Given the description of an element on the screen output the (x, y) to click on. 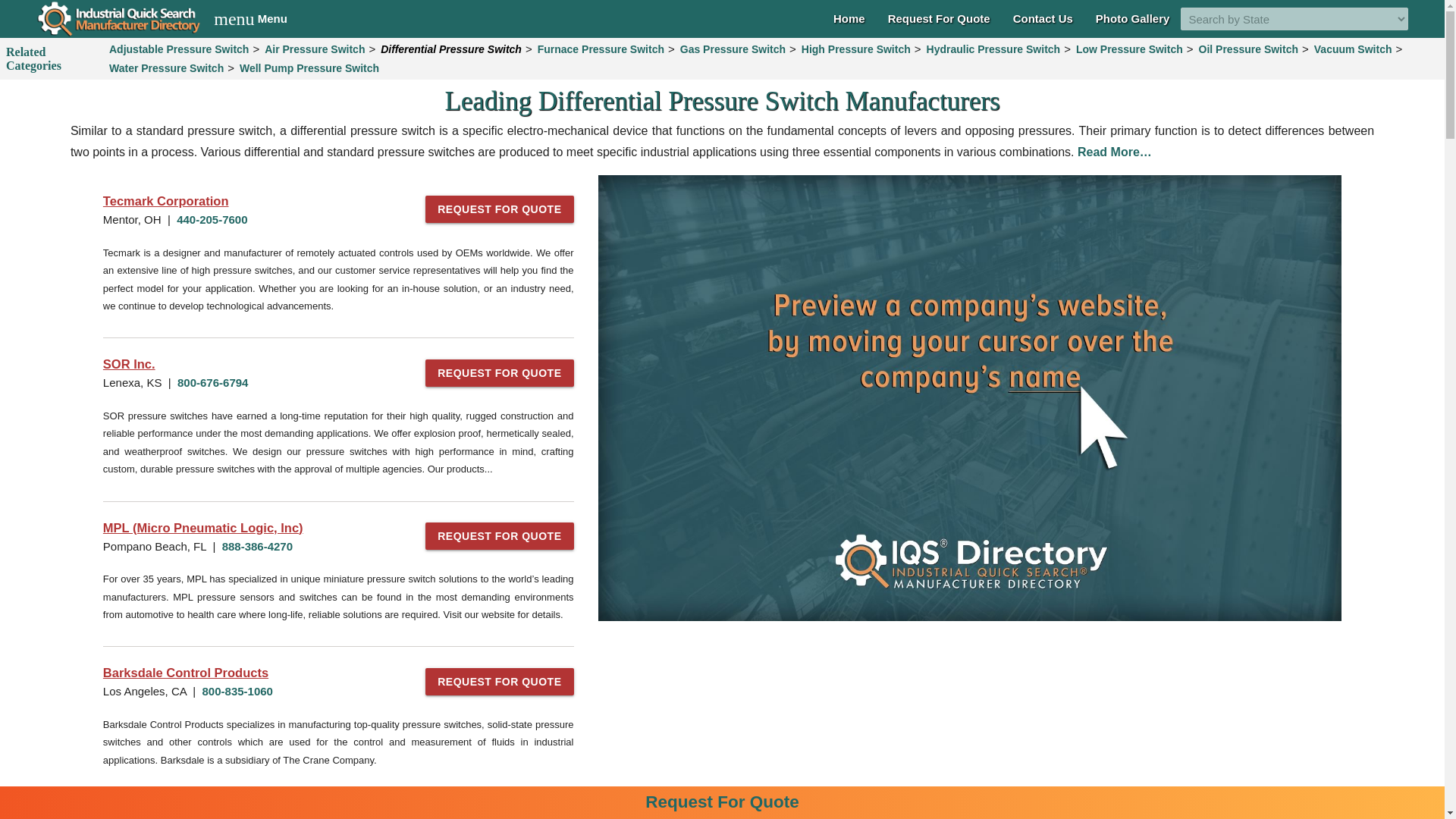
Differential Pressure Switch (451, 48)
Request For Quote (938, 18)
Furnace Pressure Switch (601, 48)
Home (849, 18)
Gas Pressure Switch (733, 48)
Contact Us (1042, 18)
Air Pressure Switch (314, 48)
Hydraulic Pressure Switch (993, 48)
Adjustable Pressure Switch (250, 18)
